Given the description of an element on the screen output the (x, y) to click on. 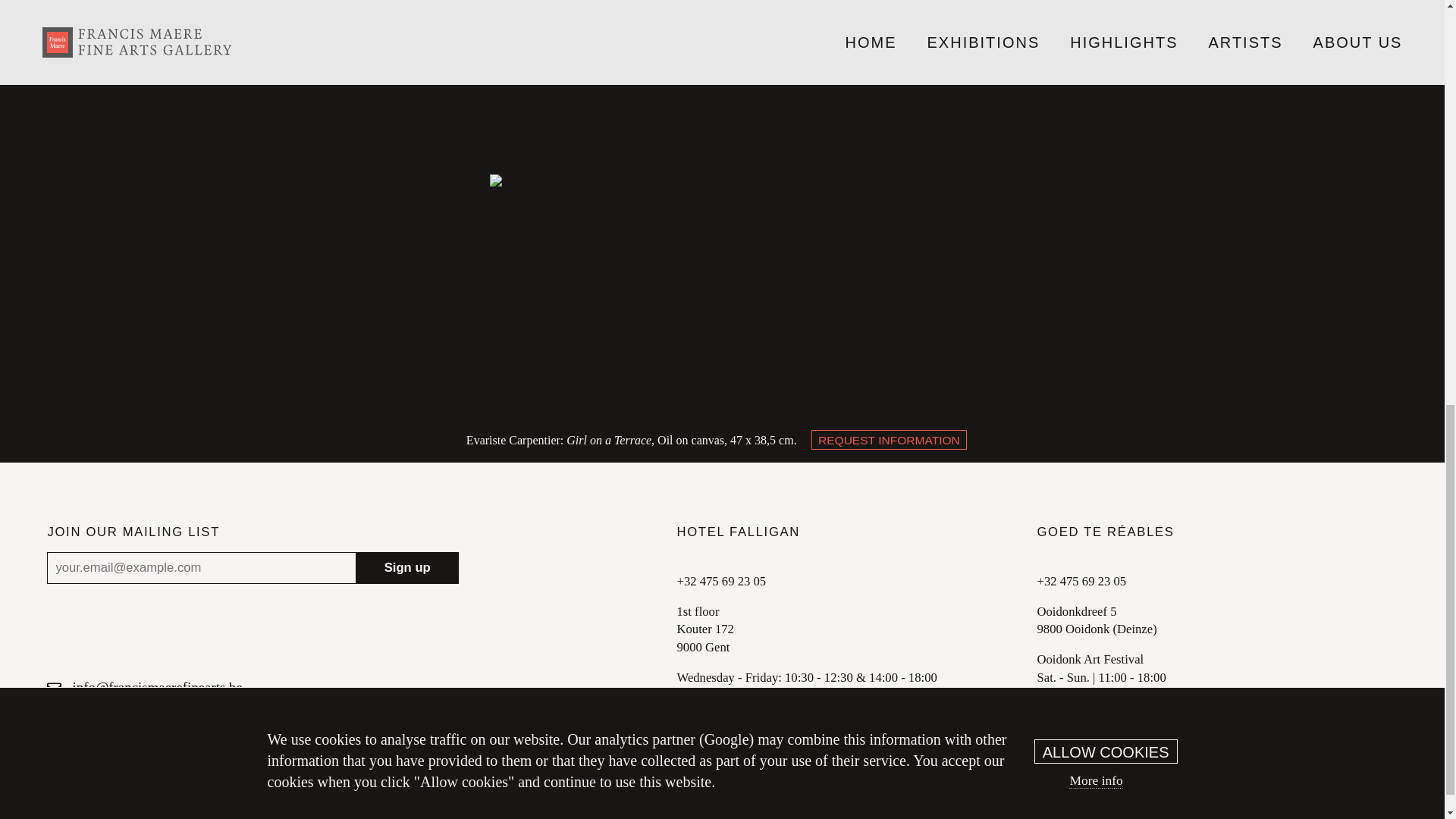
Sign up (406, 567)
REQUEST INFORMATION (888, 439)
Follow us on instagram (140, 710)
ROCAD (973, 782)
